Given the description of an element on the screen output the (x, y) to click on. 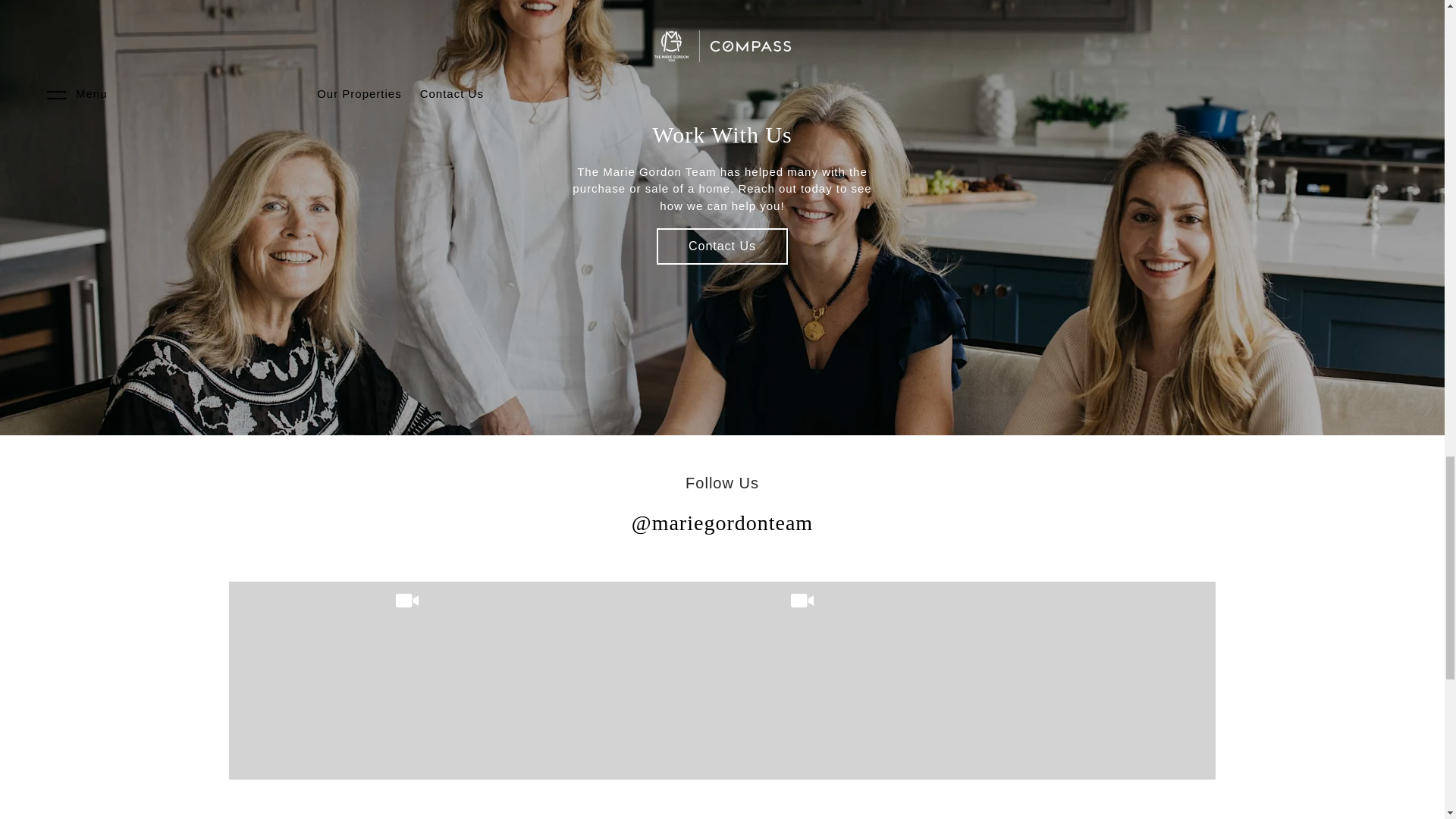
Contact Us (721, 246)
